Given the description of an element on the screen output the (x, y) to click on. 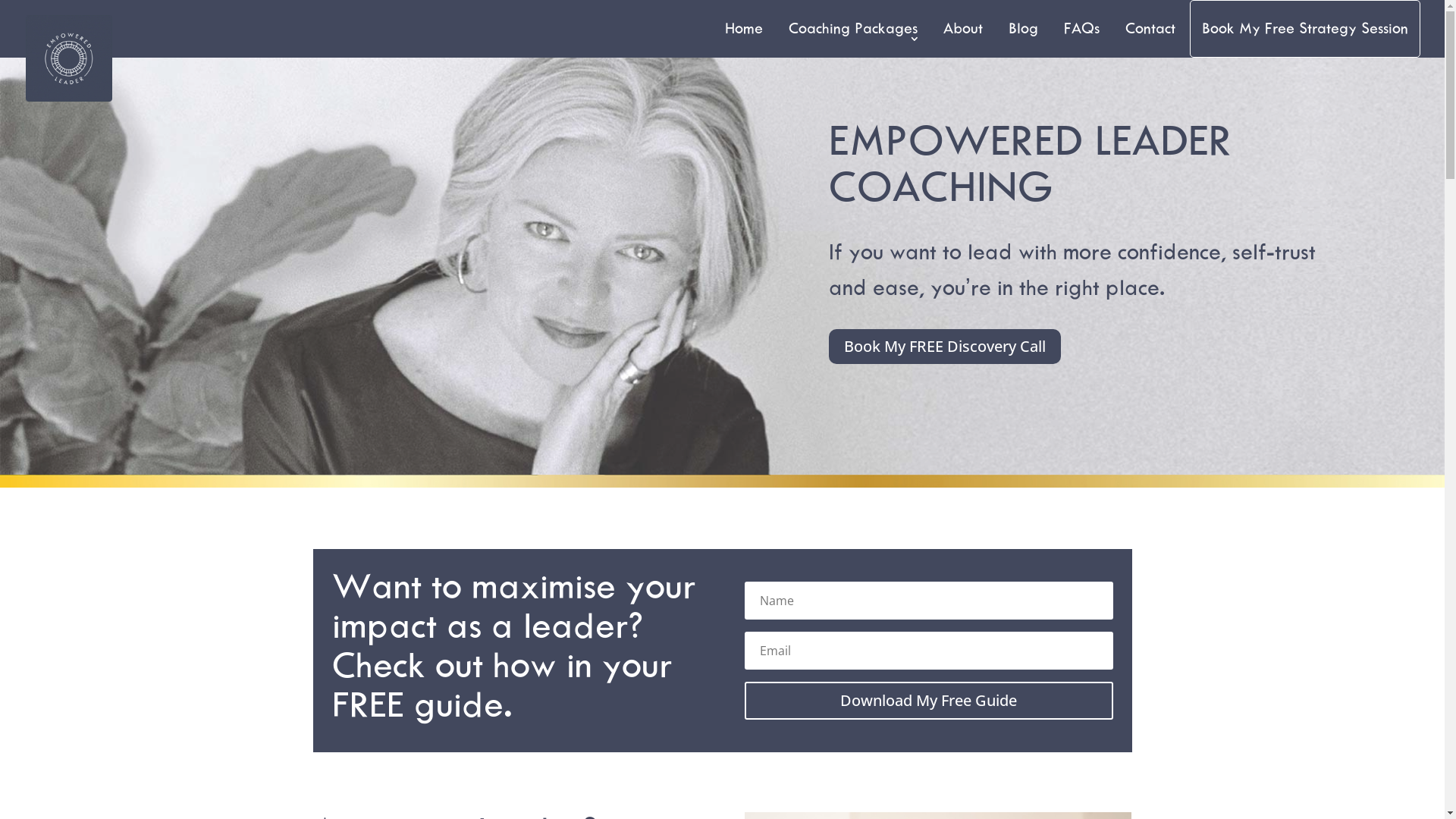
Blog Element type: text (1023, 28)
FAQs Element type: text (1081, 28)
About Element type: text (962, 28)
Coaching Packages Element type: text (852, 28)
Empowered-Leader-Gold-Strip-2 Element type: hover (722, 480)
Book My FREE Discovery Call Element type: text (944, 346)
Download My Free Guide Element type: text (928, 700)
Home Element type: text (743, 28)
Contact Element type: text (1149, 28)
Book My Free Strategy Session Element type: text (1304, 28)
